Given the description of an element on the screen output the (x, y) to click on. 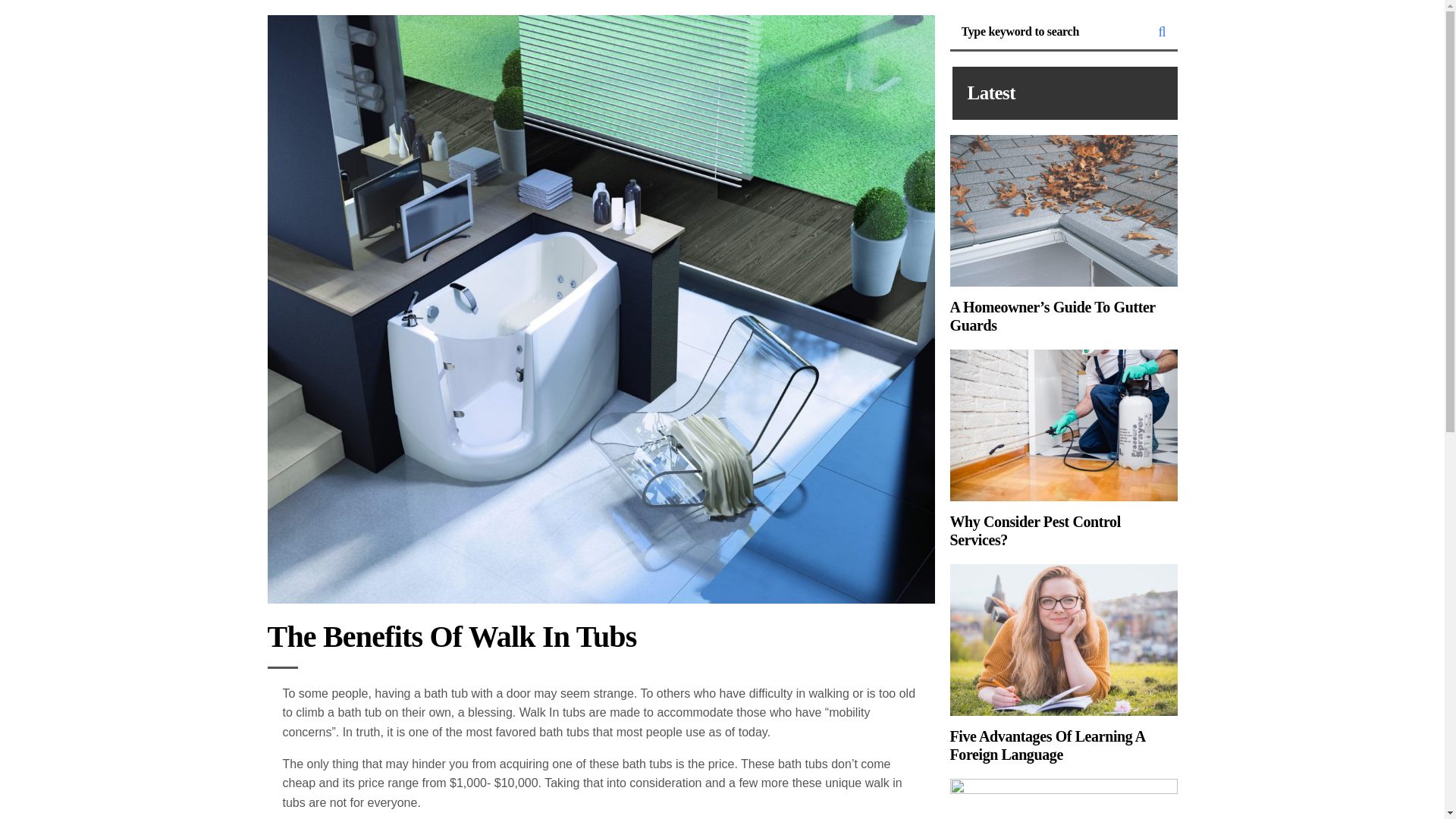
Best Smart TV Deals Happening Now (1062, 798)
Why Consider Pest Control Services? (1062, 448)
Five Advantages Of Learning A Foreign Language (1062, 663)
Type keyword to search (1048, 31)
Type keyword to search (1048, 31)
